Given the description of an element on the screen output the (x, y) to click on. 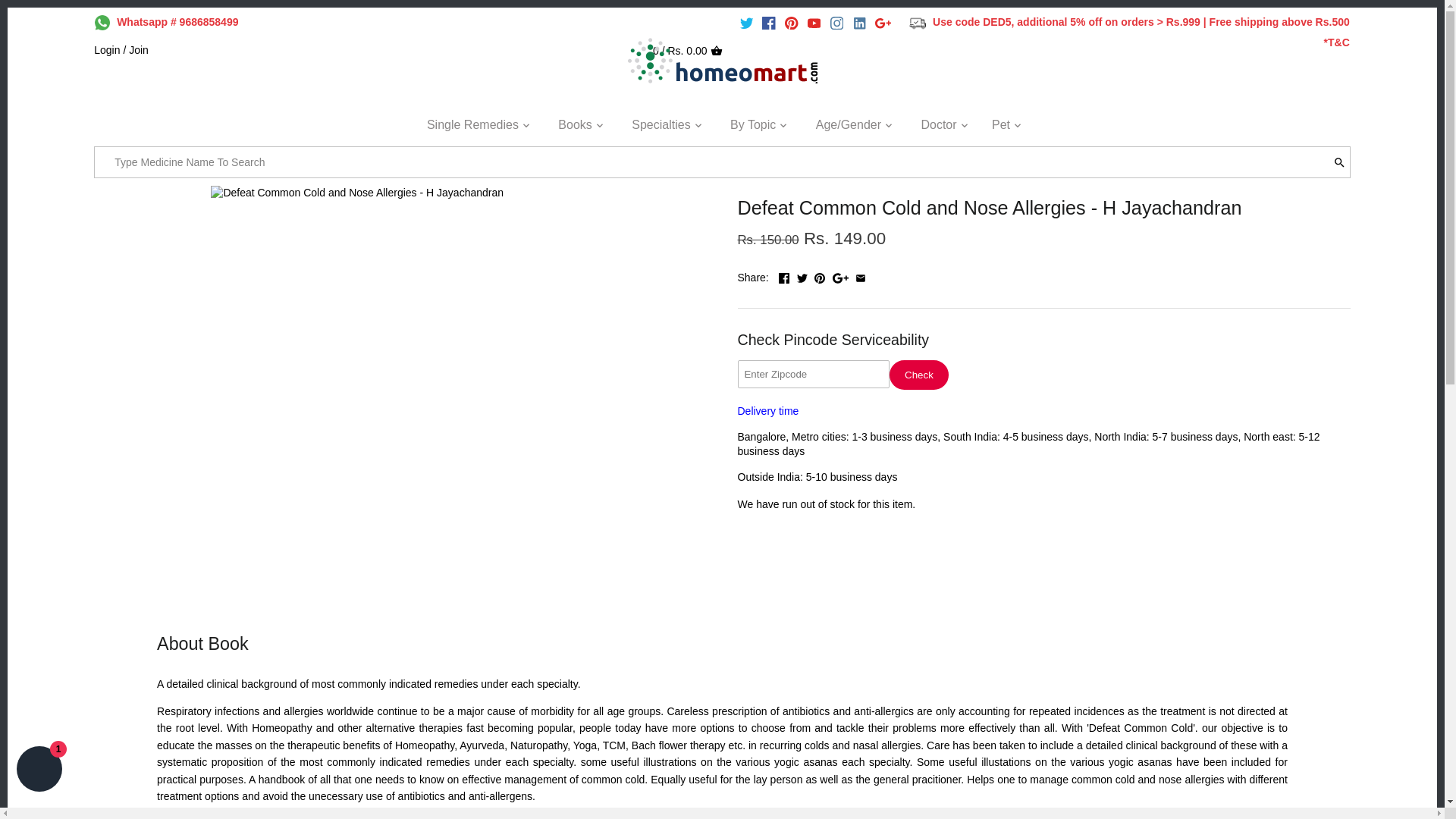
Login (106, 50)
Twitter (746, 22)
Facebook (768, 22)
GooglePlus (840, 277)
Single Remedies (472, 129)
Youtube (814, 23)
Instagram (836, 22)
Youtube (814, 22)
Twitter (746, 22)
Pinterest (819, 277)
GooglePlus (883, 23)
Facebook (768, 22)
Facebook (768, 23)
Youtube (814, 22)
GooglePlus (883, 22)
